Given the description of an element on the screen output the (x, y) to click on. 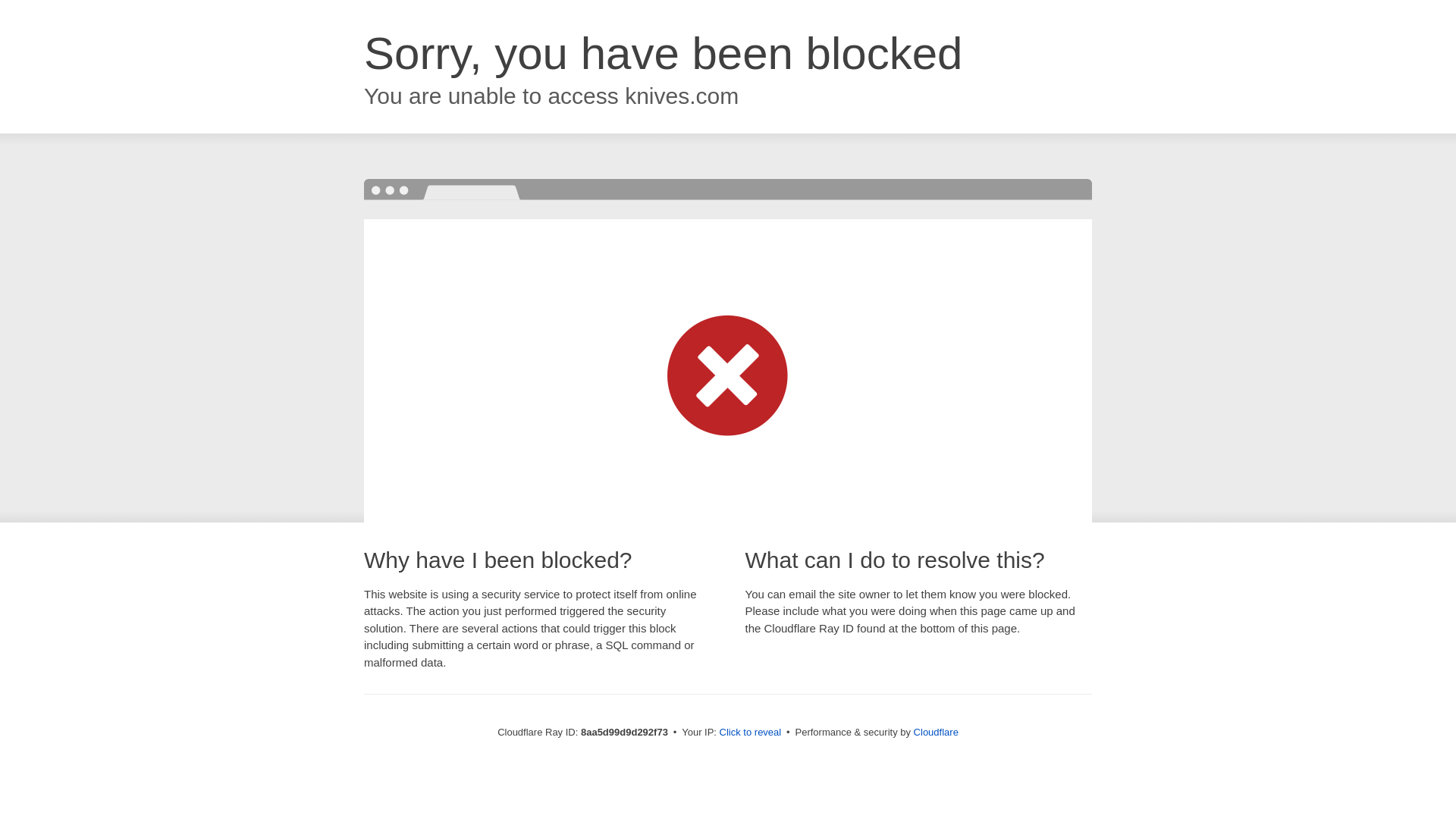
Cloudflare (936, 731)
Click to reveal (750, 732)
